Given the description of an element on the screen output the (x, y) to click on. 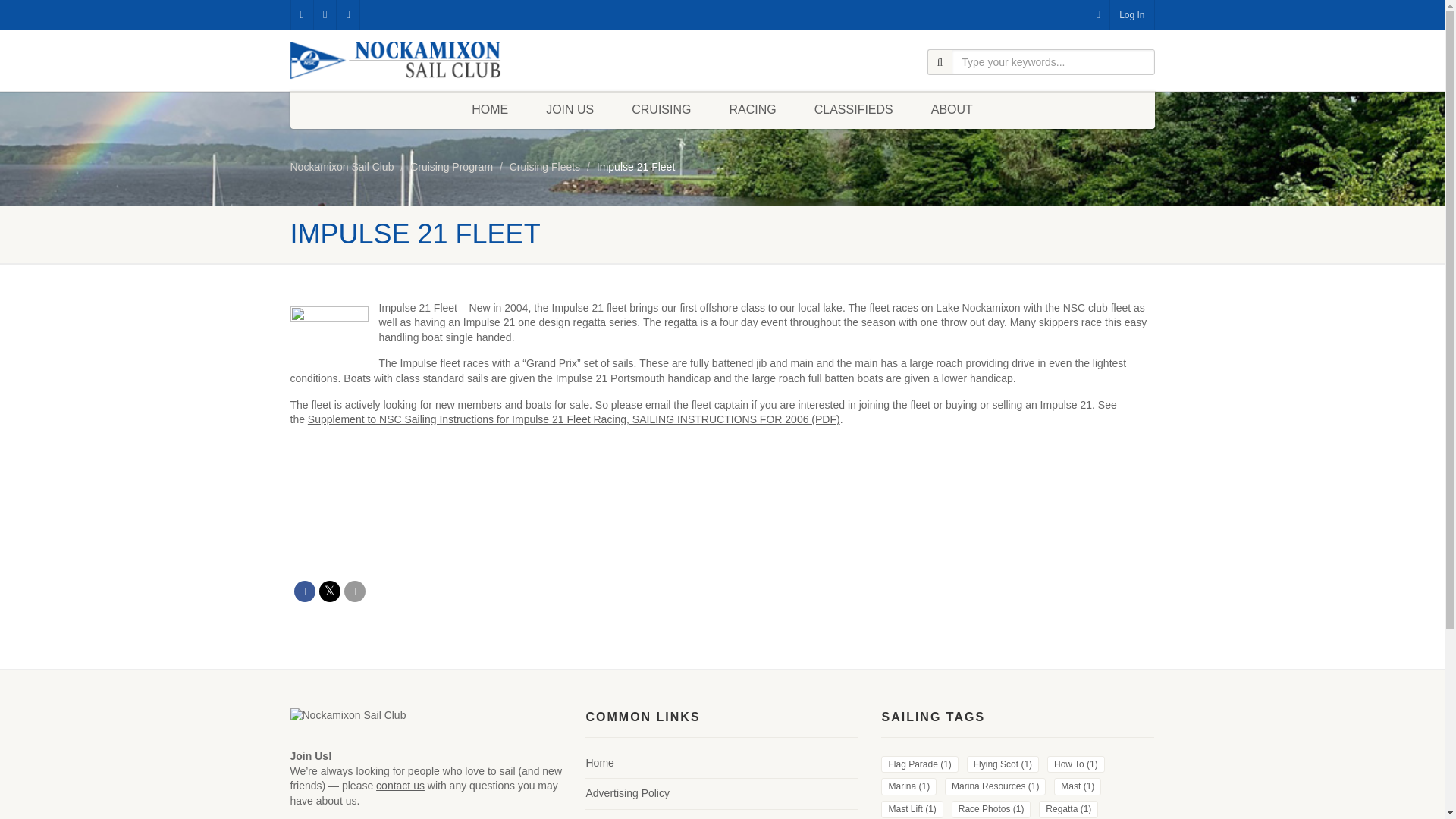
CRUISING (661, 109)
Go to Nockamixon Sail Club. (341, 166)
CLASSIFIEDS (853, 109)
ABOUT (951, 109)
Tweet (328, 590)
Go to Cruising Fleets. (544, 166)
HOME (489, 109)
Go to Cruising Program. (451, 166)
RACING (752, 109)
contact us (400, 785)
